Given the description of an element on the screen output the (x, y) to click on. 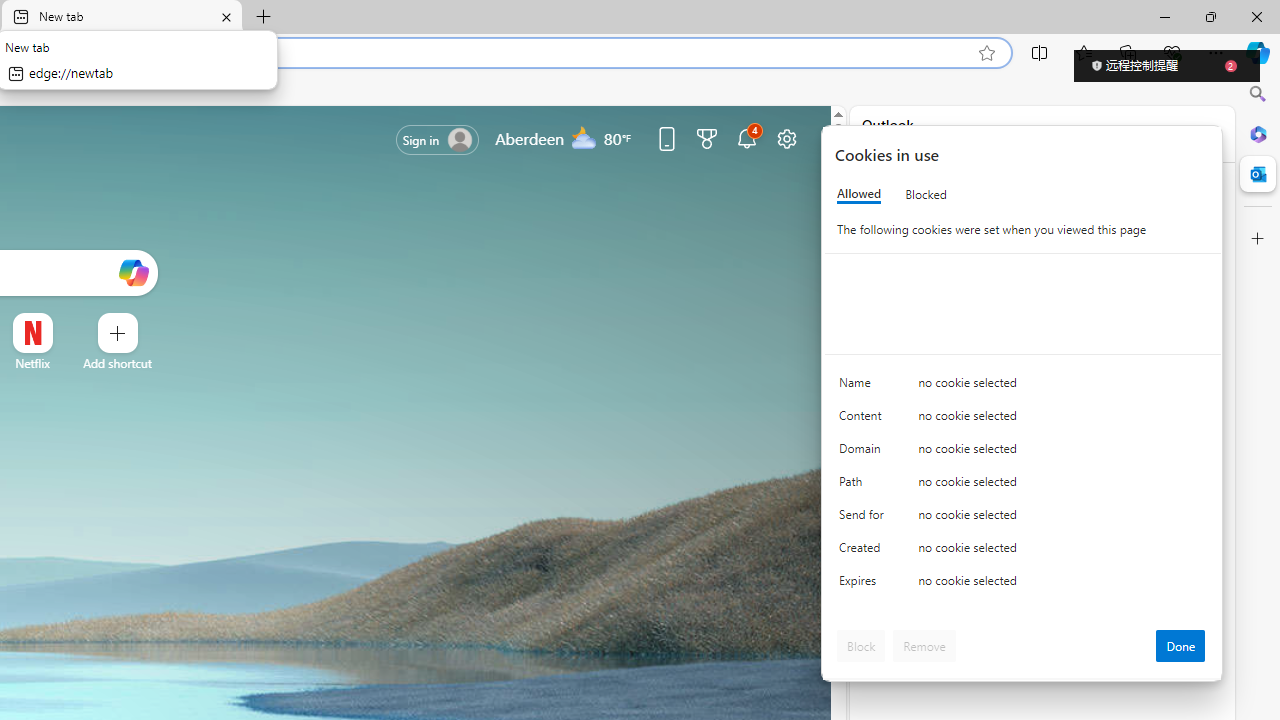
Page settings (786, 138)
Send for (864, 518)
Notifications (746, 138)
Click to sign into Microsoft Edge (437, 139)
login.live.com (911, 143)
Blocked (925, 193)
Microsoft (927, 198)
Allowed (859, 193)
